Given the description of an element on the screen output the (x, y) to click on. 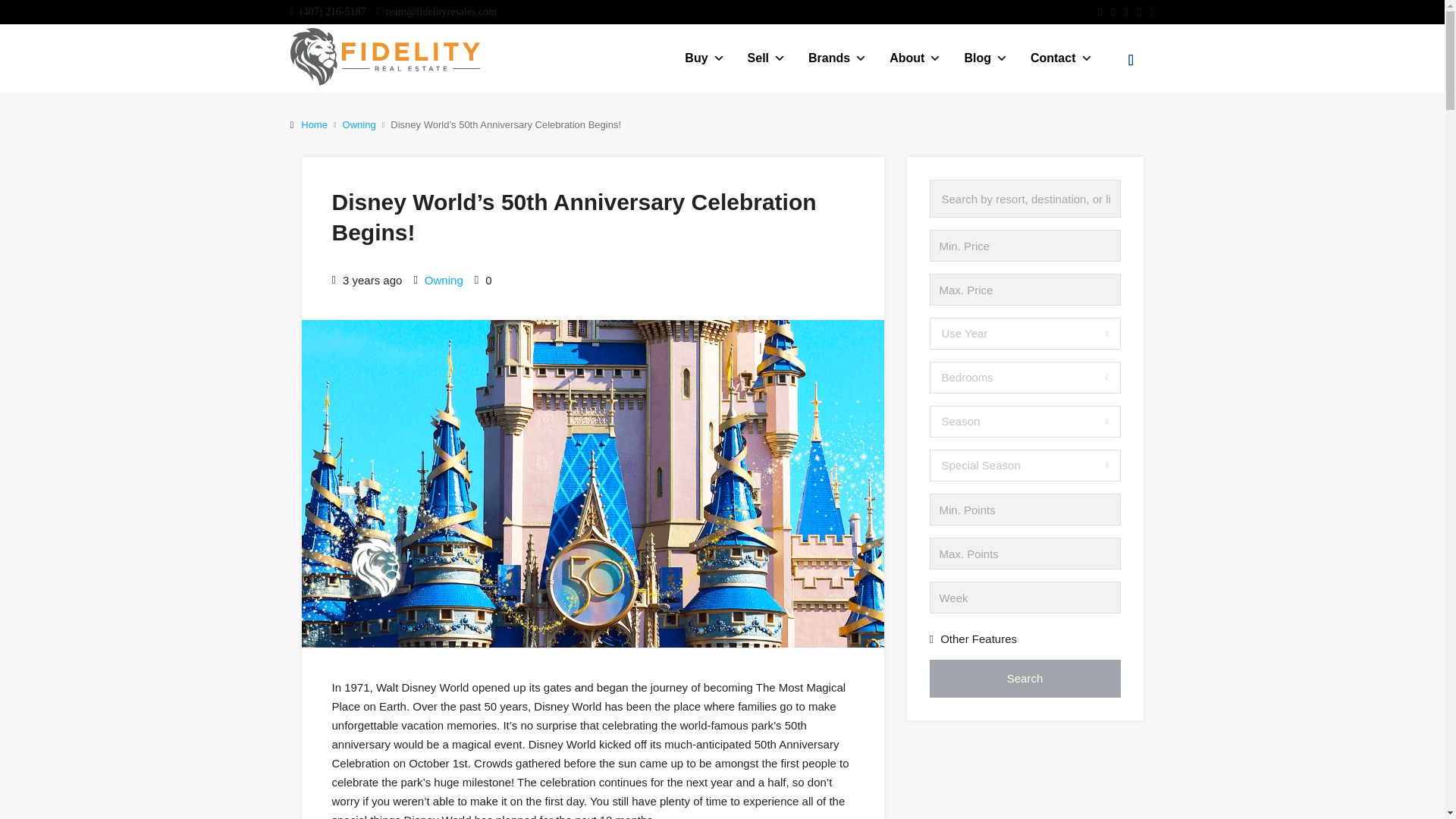
Season (1024, 421)
Bedrooms (1024, 377)
Use Year (1024, 333)
Buy (703, 58)
Special Season (1024, 465)
